Given the description of an element on the screen output the (x, y) to click on. 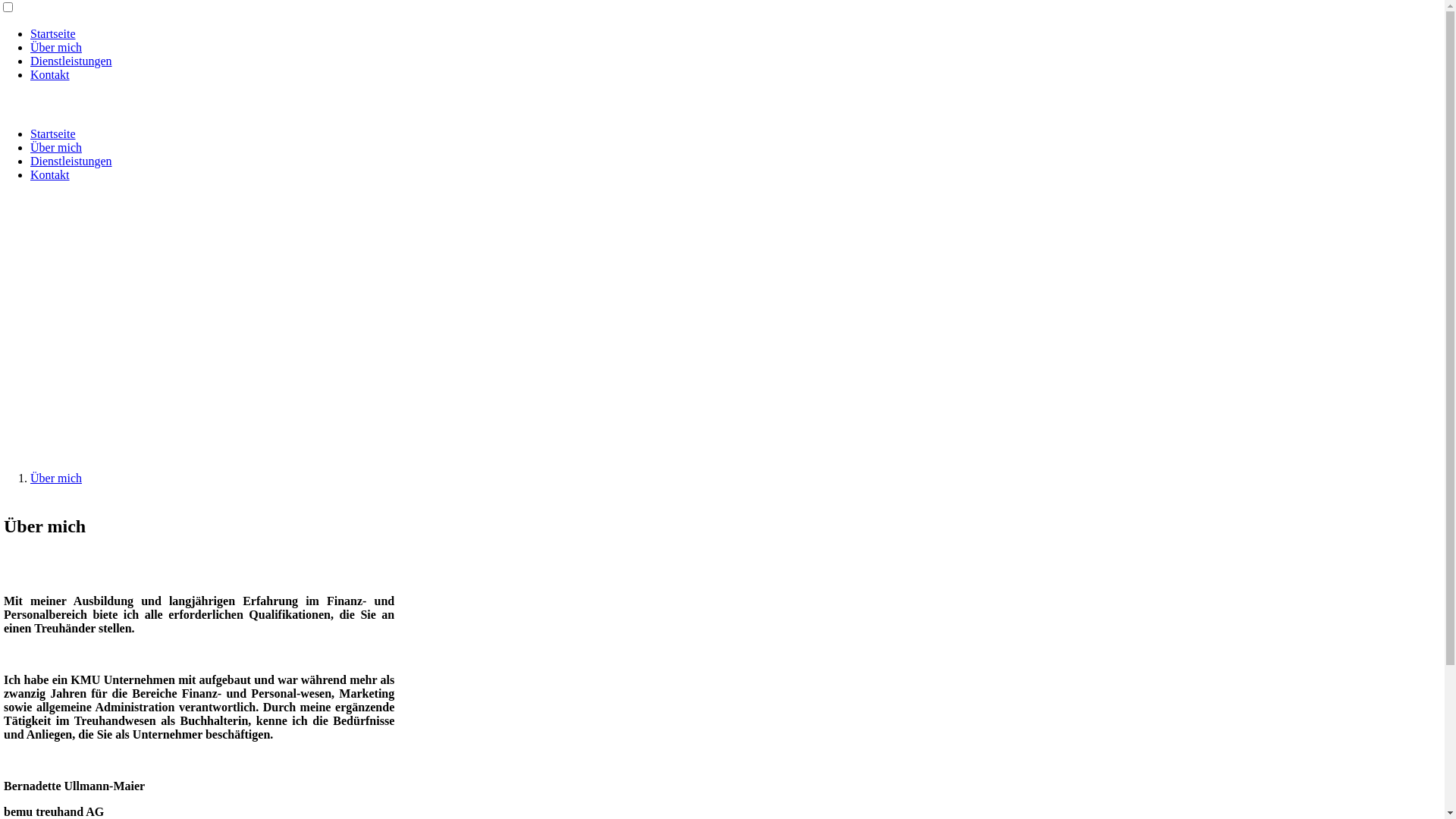
Kontakt Element type: text (49, 174)
Startseite Element type: text (52, 33)
Dienstleistungen Element type: text (71, 160)
Dienstleistungen Element type: text (71, 60)
Startseite Element type: text (52, 133)
Kontakt Element type: text (49, 74)
